Given the description of an element on the screen output the (x, y) to click on. 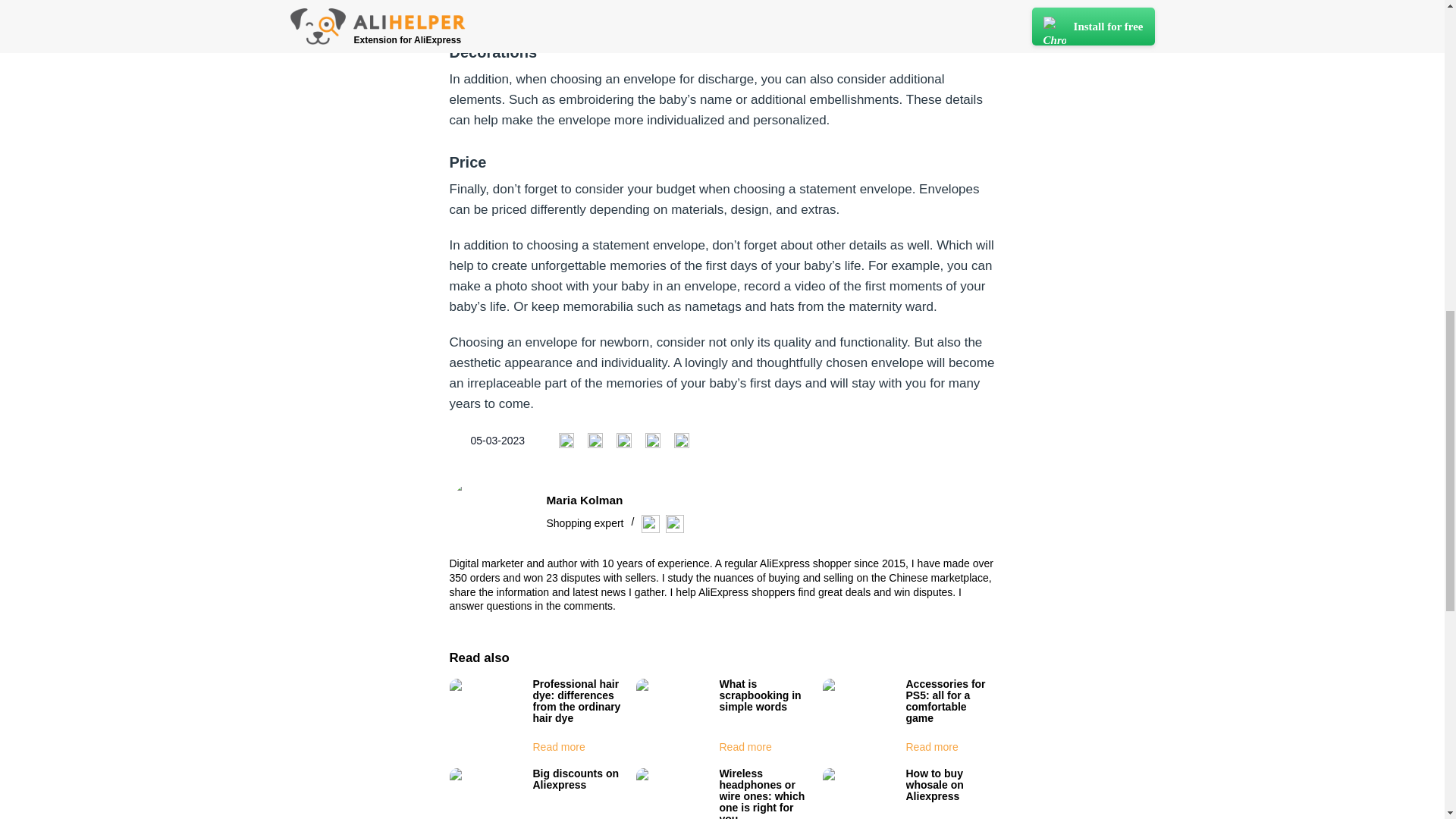
How to buy whosale on Aliexpress (933, 784)
Accessories for PS5: all for a comfortable game (945, 700)
What is scrapbooking in simple words (759, 695)
Read more (931, 746)
Wireless headphones or wire ones: which one is right for you (762, 793)
Read more (745, 746)
Big discounts on Aliexpress (575, 779)
Read more (558, 746)
